Given the description of an element on the screen output the (x, y) to click on. 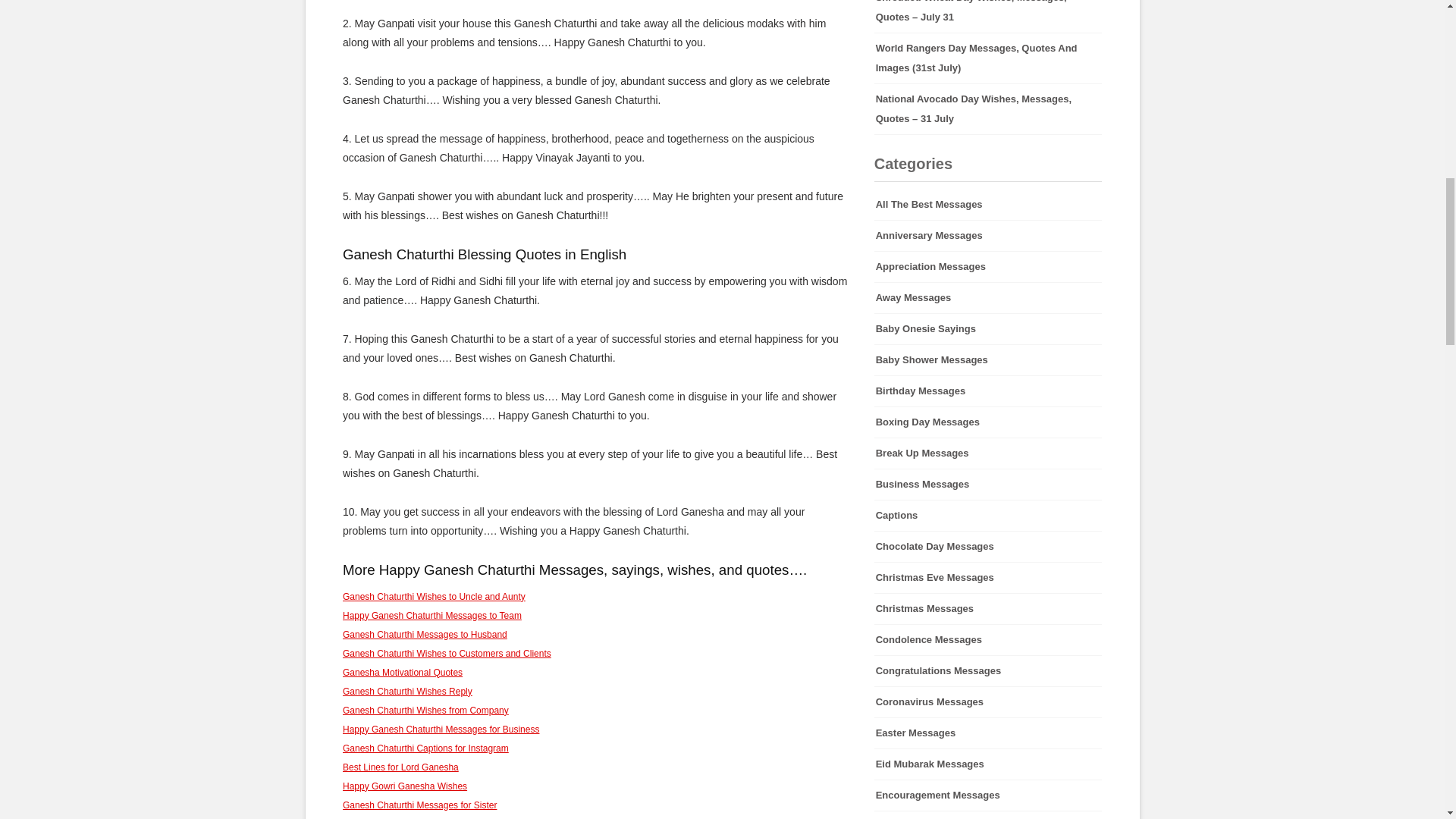
Ganesh Chaturthi Wishes Reply (406, 691)
Ganesh Chaturthi Captions for Instagram (425, 747)
Happy Ganesh Chaturthi Messages for Business (440, 728)
Ganesh Chaturthi Messages for Sister (419, 805)
Ganesha Motivational Quotes (402, 672)
Happy Gowri Ganesha Wishes (404, 786)
Ganesh Chaturthi Wishes to Customers and Clients (446, 653)
Happy Ganesh Chaturthi Messages to Team (431, 615)
Ganesh Chaturthi Messages to Husband (424, 634)
Ganesh Chaturthi Wishes from Company (425, 710)
Ganesh Chaturthi Wishes to Uncle and Aunty (433, 596)
Best Lines for Lord Ganesha (400, 767)
